Given the description of an element on the screen output the (x, y) to click on. 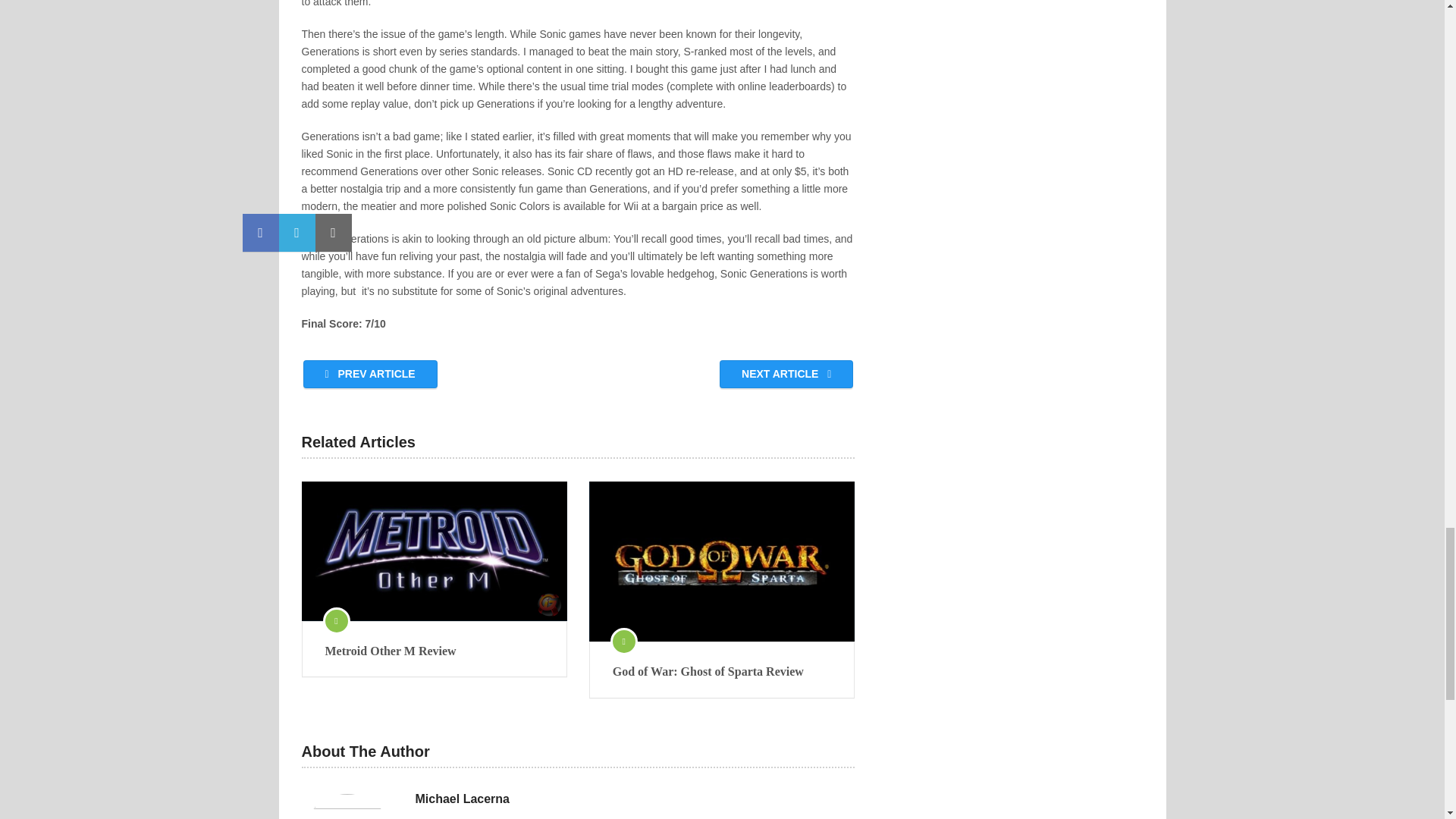
God of War: Ghost of Sparta Review (721, 671)
God of War: Ghost of Sparta Review (721, 561)
Metroid Other M Review (433, 651)
NEXT ARTICLE (786, 374)
Metroid Other M Review (434, 550)
PREV ARTICLE (370, 374)
